Given the description of an element on the screen output the (x, y) to click on. 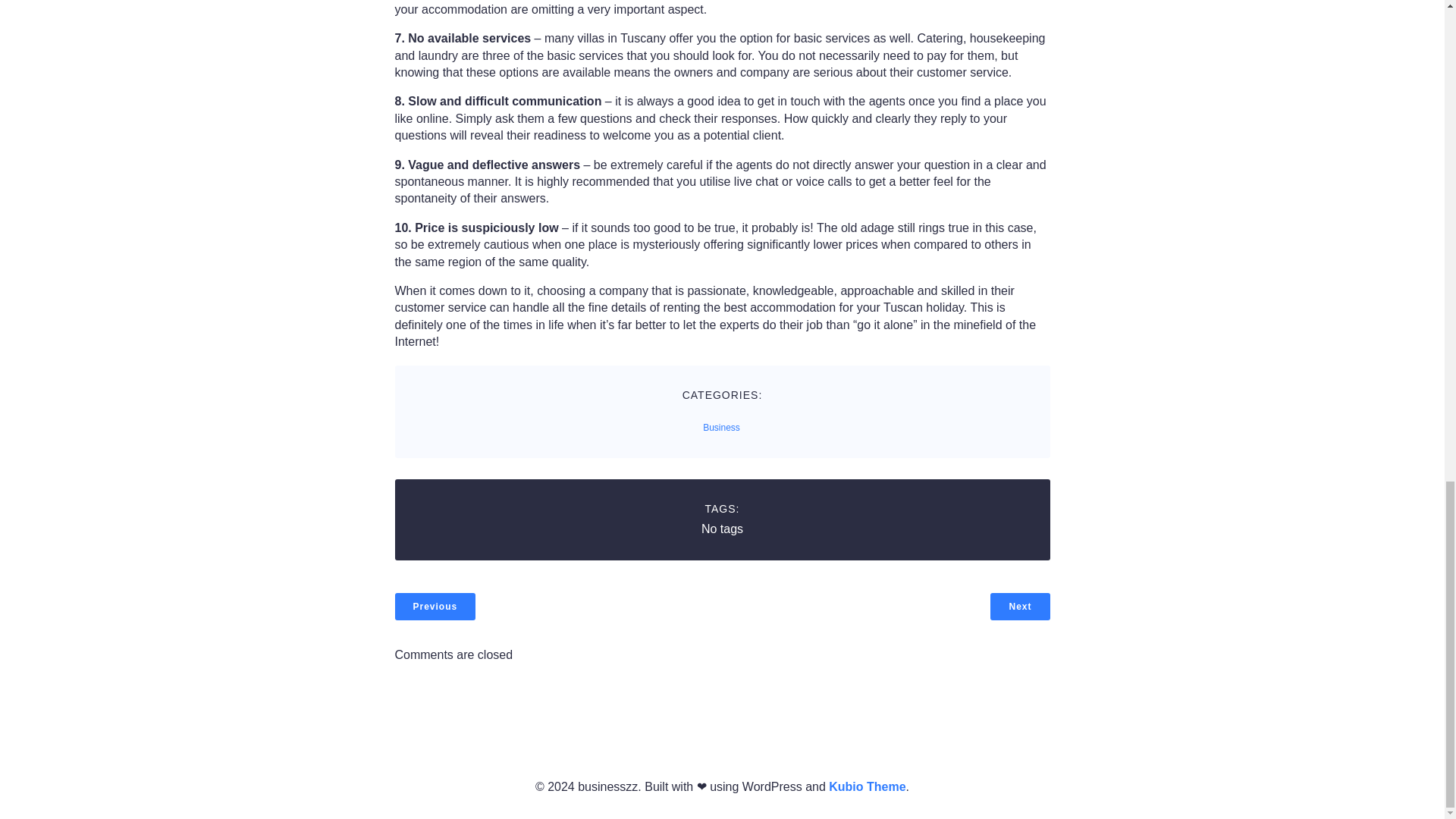
Business (721, 427)
Previous (435, 605)
Kubio Theme (866, 786)
Next (1019, 605)
